Given the description of an element on the screen output the (x, y) to click on. 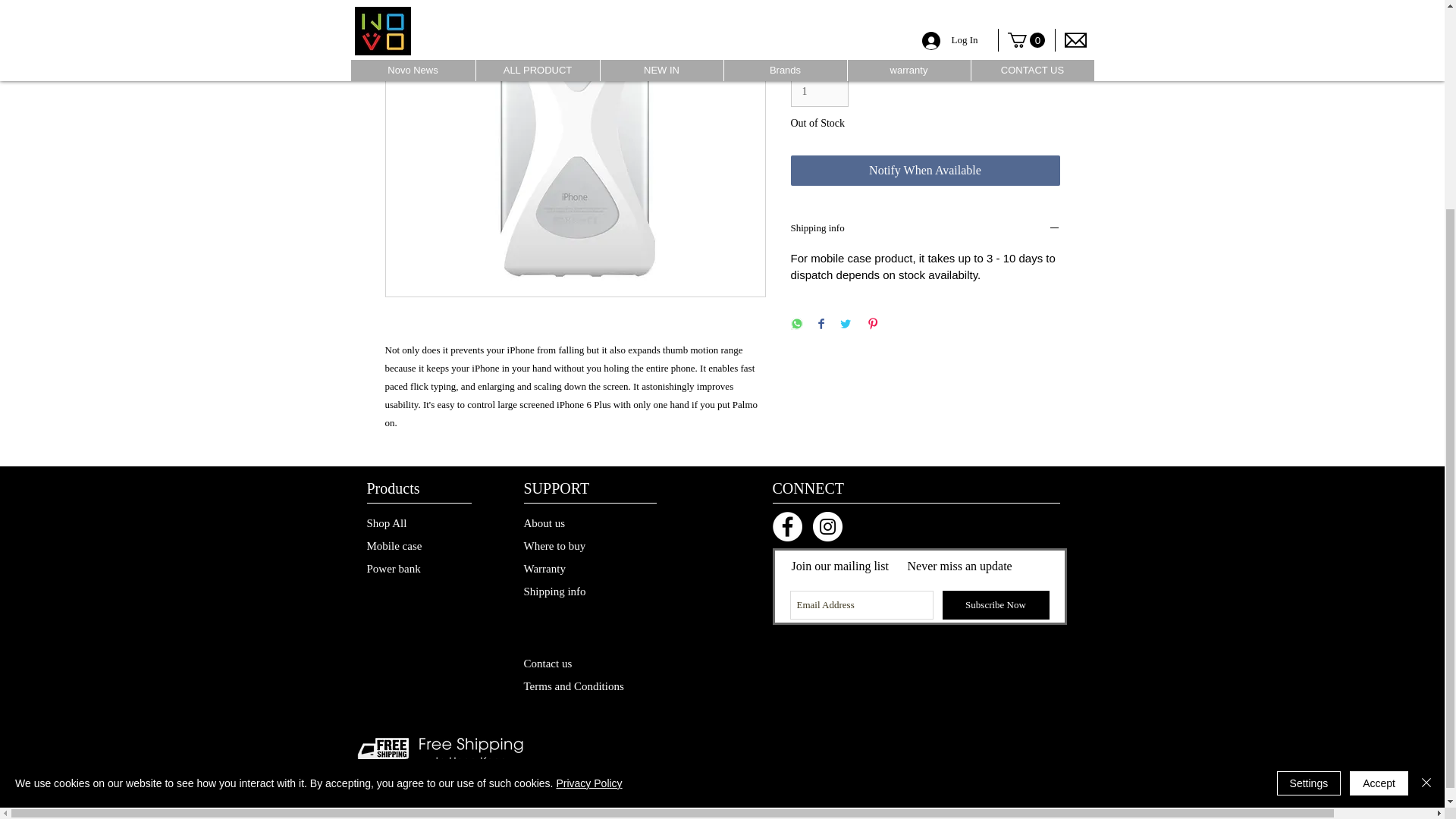
Terms and Conditions (579, 685)
Privacy Policy (588, 507)
Contact us (567, 662)
Select (924, 24)
Where to buy (567, 545)
Shop All (415, 522)
1 (818, 91)
Privacy Policy (1031, 781)
Subscribe Now (995, 604)
Warranty (567, 568)
Accept (1378, 507)
Shipping info (567, 590)
Shipping info (924, 229)
Settings (1308, 507)
Notify When Available (924, 170)
